Given the description of an element on the screen output the (x, y) to click on. 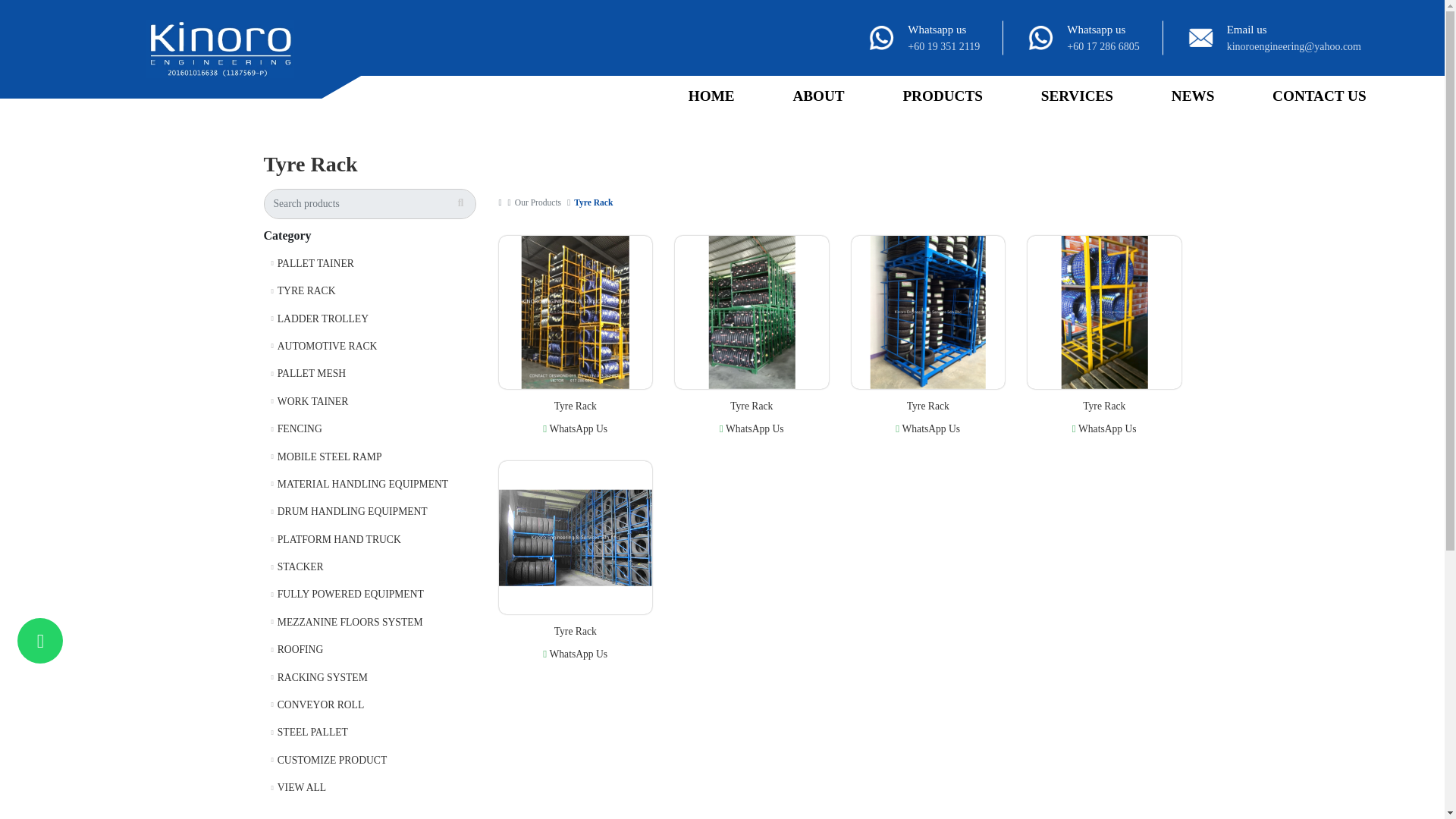
TYRE RACK (369, 290)
Home (710, 95)
CONTACT US (1318, 95)
MEZZANINE FLOORS SYSTEM (369, 622)
NEWS (1192, 95)
Our Products (539, 203)
FULLY POWERED EQUIPMENT (369, 594)
Tyre Rack (592, 203)
Contact Us (1318, 95)
AUTOMOTIVE RACK (369, 346)
Tyre Rack (592, 203)
ABOUT (817, 95)
STACKER (369, 566)
MATERIAL HANDLING EQUIPMENT (369, 483)
FENCING (369, 429)
